Given the description of an element on the screen output the (x, y) to click on. 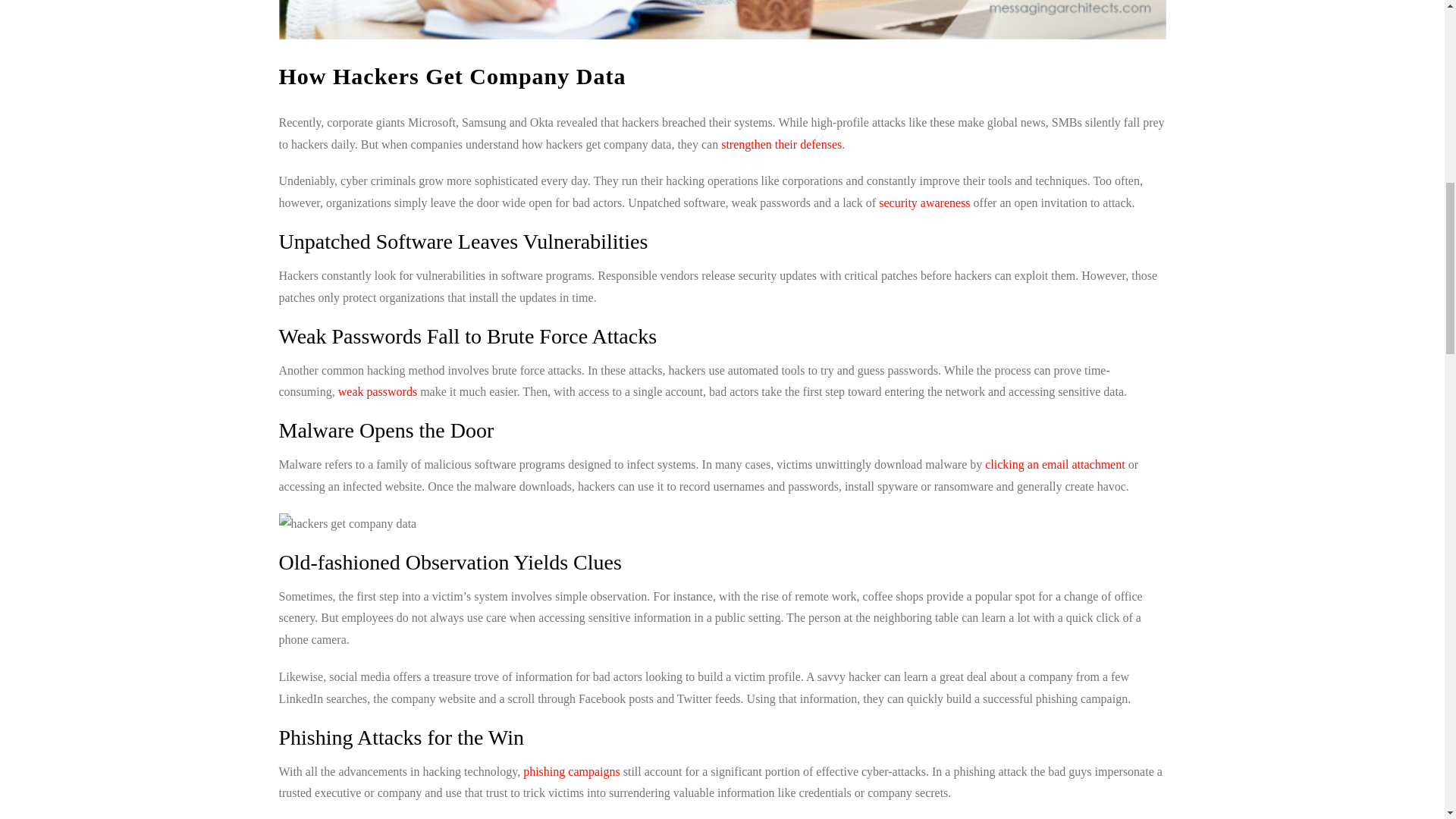
weak passwords (376, 391)
phishing campaigns (571, 771)
strengthen their defenses (780, 144)
clicking an email attachment (1054, 463)
security awareness (924, 202)
